Given the description of an element on the screen output the (x, y) to click on. 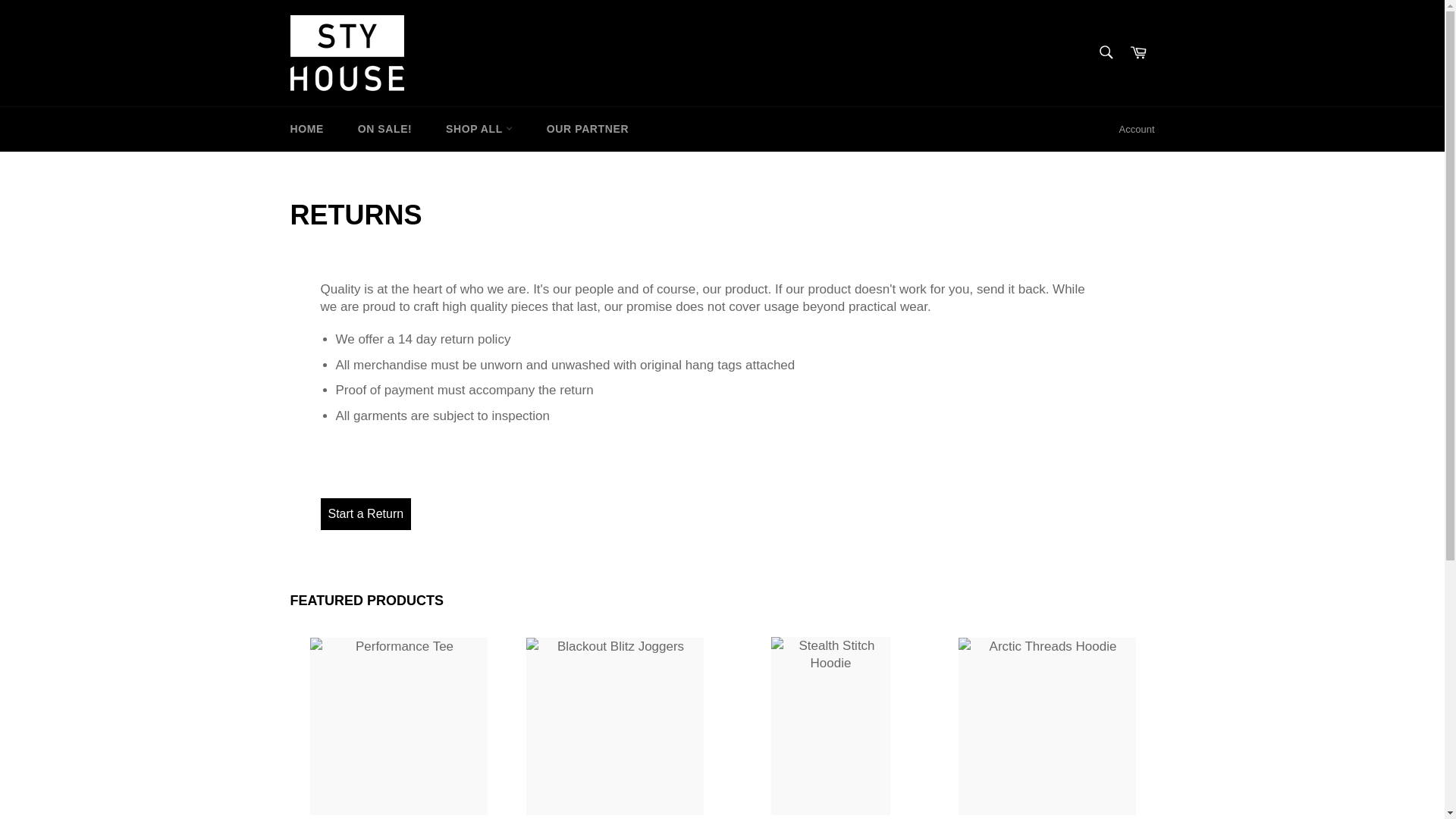
Search (1104, 51)
SHOP ALL (478, 129)
Start a Return (365, 513)
HOME (306, 129)
Cart (1138, 53)
ON SALE! (385, 129)
Account (1136, 129)
OUR PARTNER (587, 129)
Start a Return (365, 513)
